Given the description of an element on the screen output the (x, y) to click on. 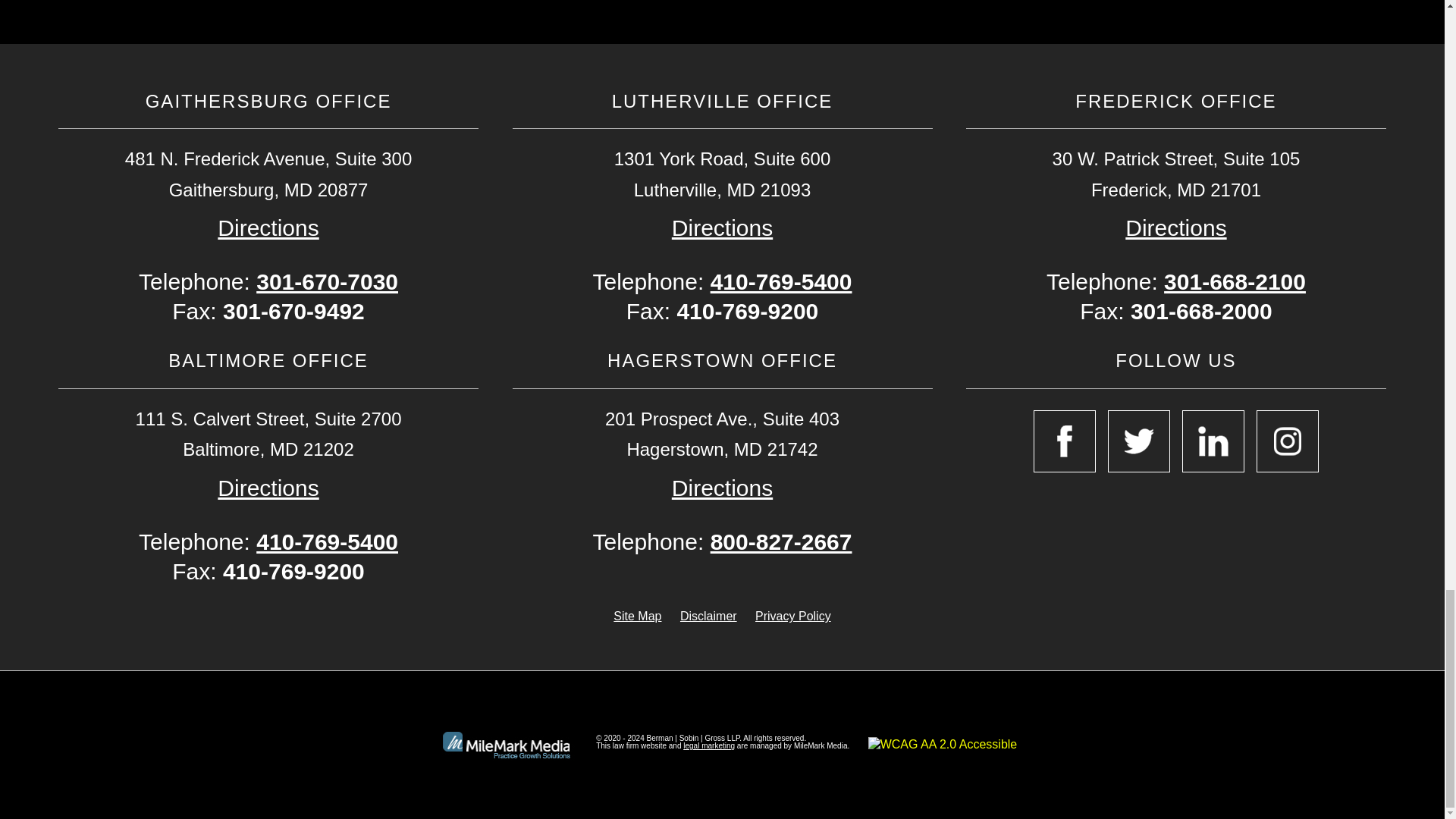
Open Google Map in a New Window (722, 227)
Open Google Map in a New Window (722, 487)
Open Google Map in a New Window (267, 227)
Open Google Map in a New Window (267, 487)
Open Google Map in a New Window (1175, 227)
